Given the description of an element on the screen output the (x, y) to click on. 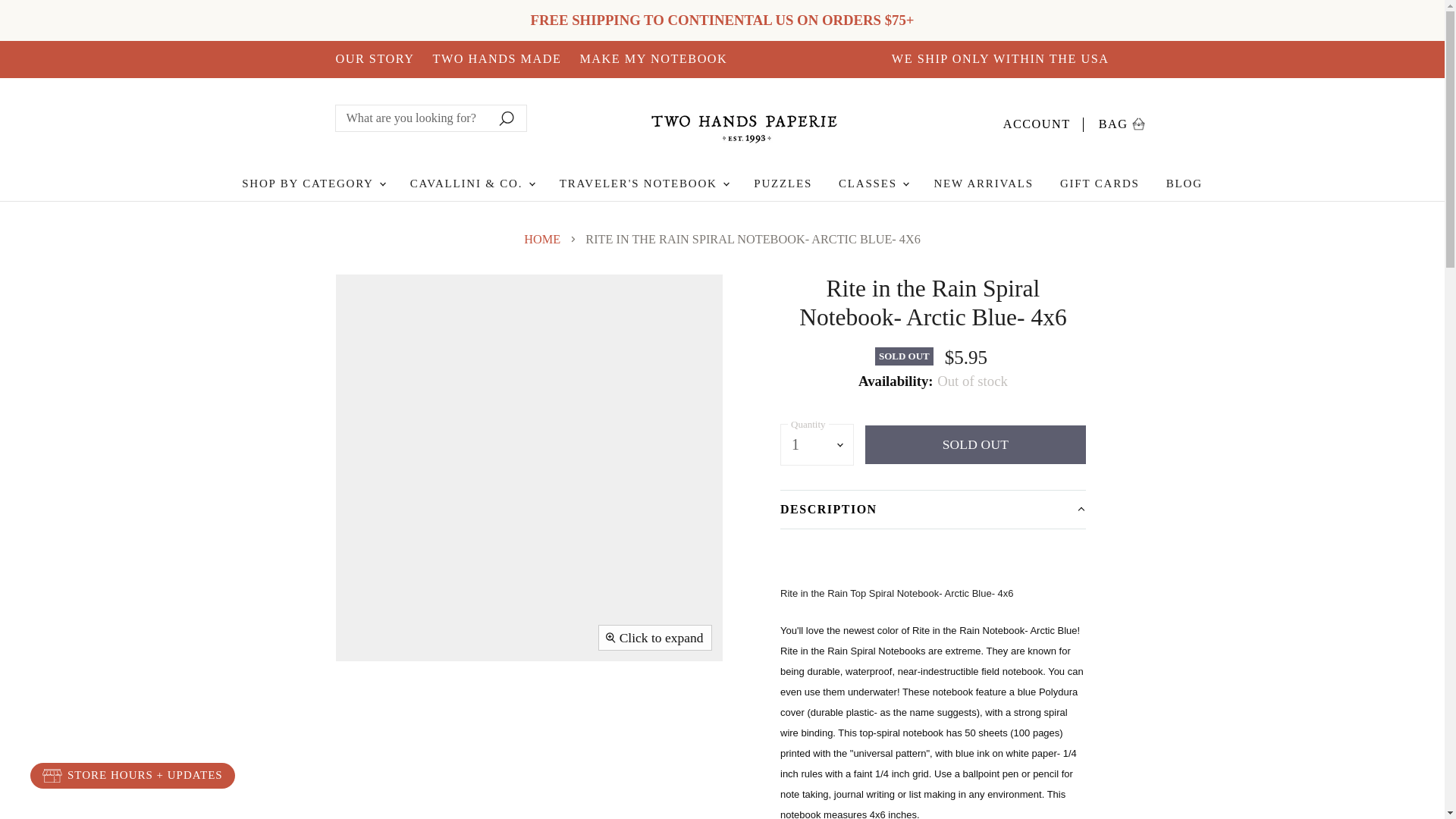
MAKE MY NOTEBOOK (1121, 121)
OUR STORY (652, 59)
SHOP BY CATEGORY (1042, 121)
TWO HANDS MADE (373, 59)
WE SHIP ONLY WITHIN THE USA (312, 183)
